Given the description of an element on the screen output the (x, y) to click on. 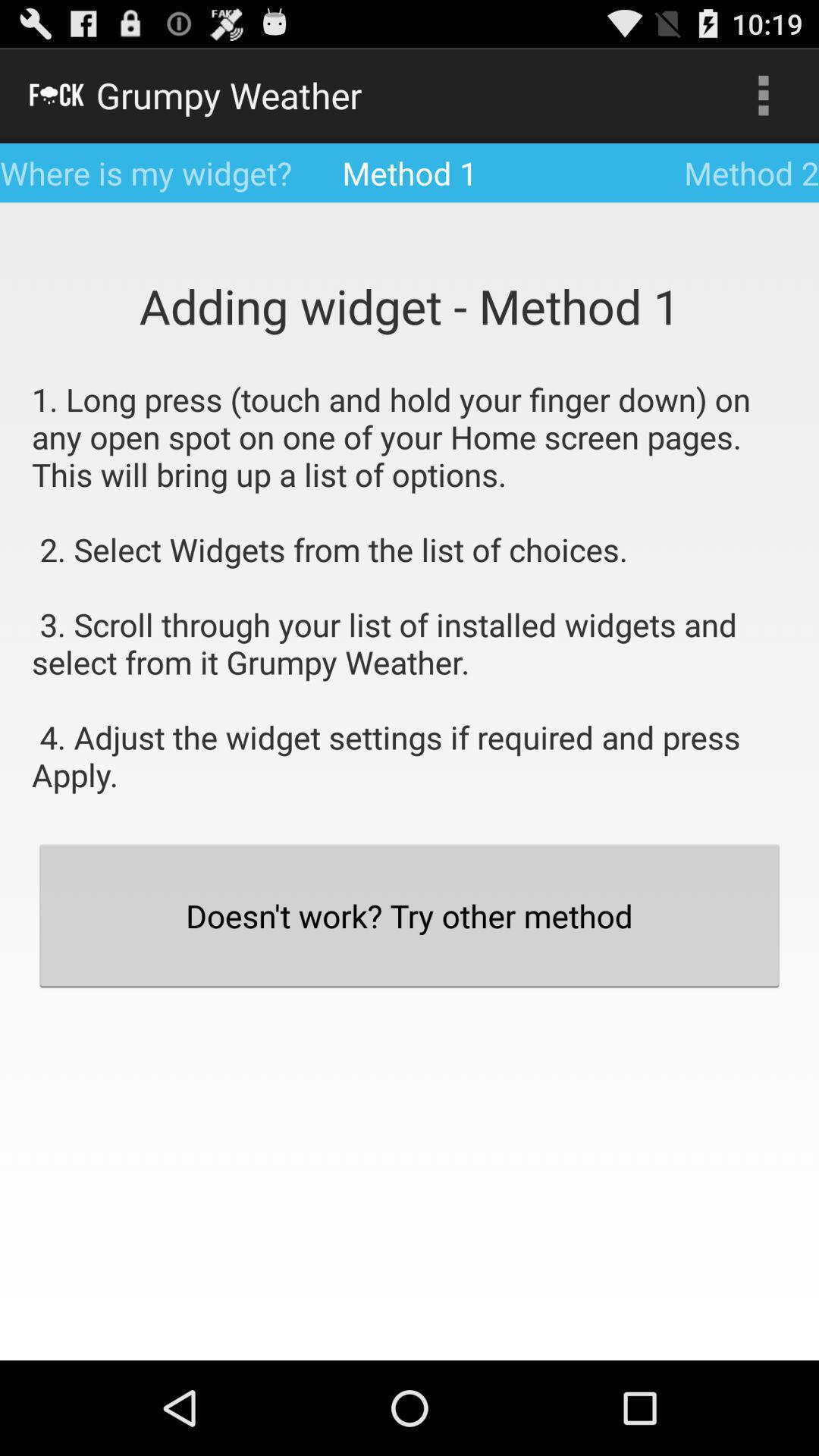
select icon above method 2 item (763, 95)
